Given the description of an element on the screen output the (x, y) to click on. 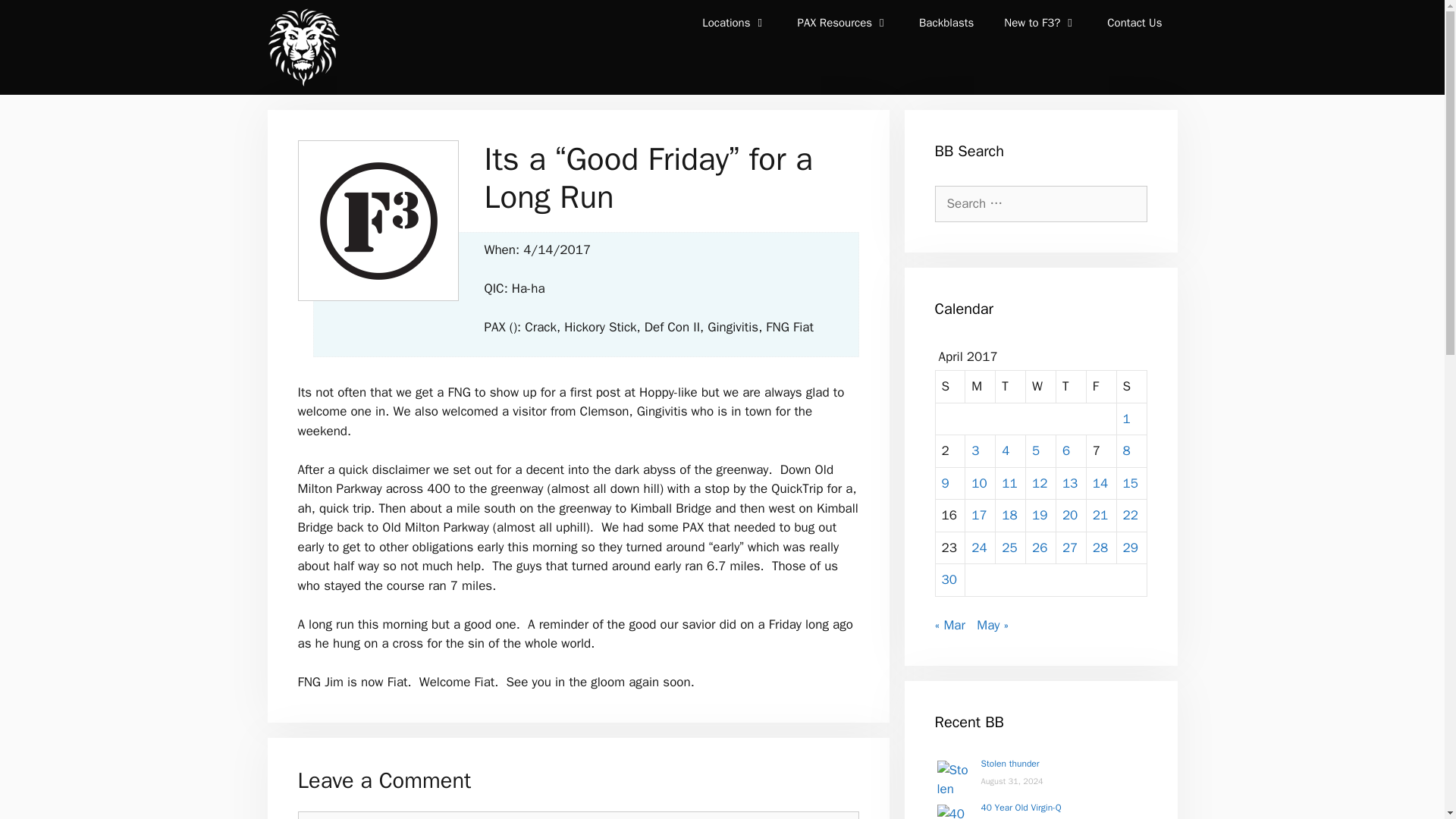
Tuesday (1010, 387)
12 (1039, 482)
Contact Us (1134, 22)
Locations (734, 22)
Monday (980, 387)
Saturday (1131, 387)
Friday (1101, 387)
New to F3? (1040, 22)
Search for: (1040, 203)
PAX Resources (843, 22)
